Given the description of an element on the screen output the (x, y) to click on. 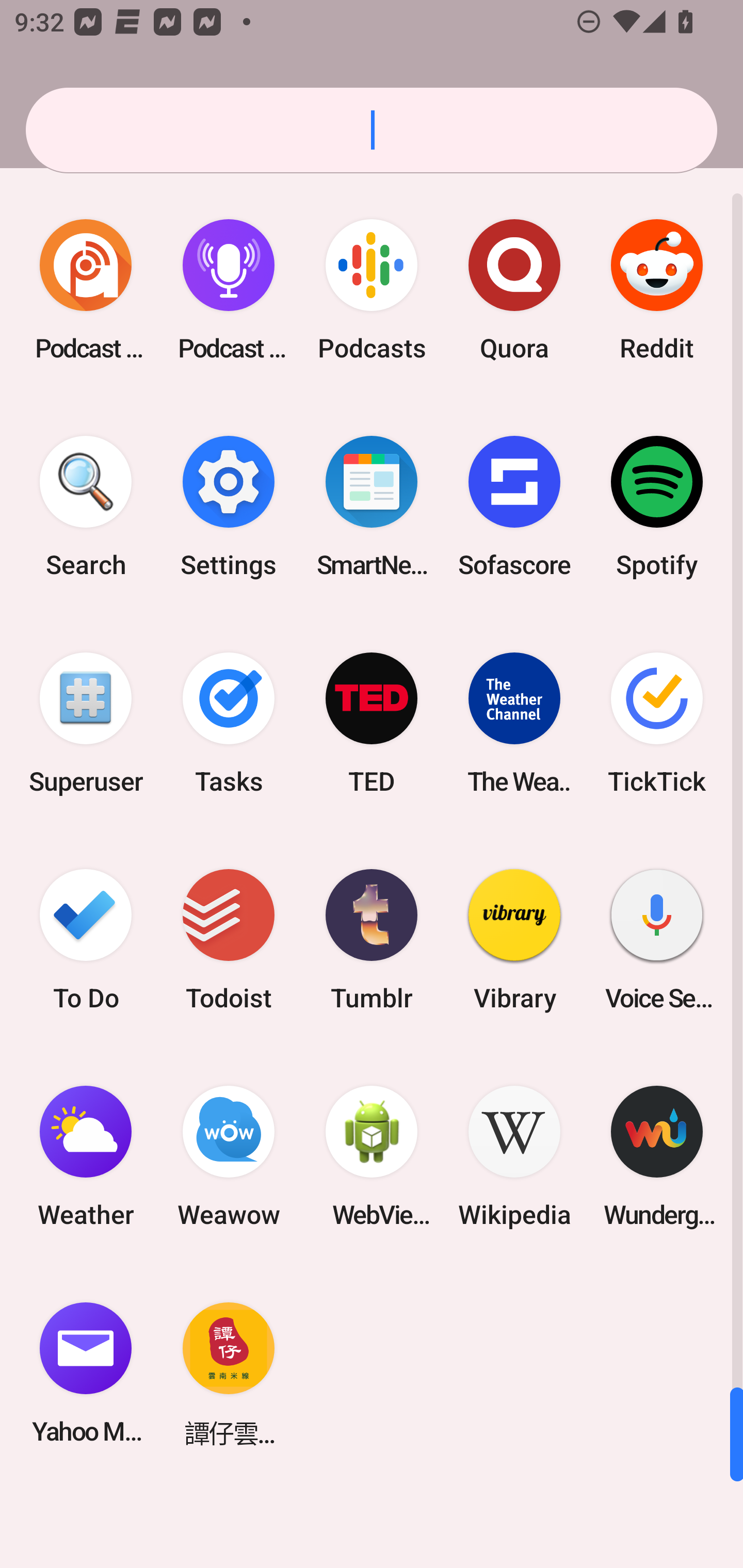
  Search apps (371, 130)
Podcast Addict (85, 289)
Podcast Player (228, 289)
Podcasts (371, 289)
Quora (514, 289)
Reddit (656, 289)
Search (85, 506)
Settings (228, 506)
SmartNews (371, 506)
Sofascore (514, 506)
Spotify (656, 506)
Superuser (85, 722)
Tasks (228, 722)
TED (371, 722)
The Weather Channel (514, 722)
TickTick (656, 722)
To Do (85, 939)
Todoist (228, 939)
Tumblr (371, 939)
Vibrary (514, 939)
Voice Search (656, 939)
Weather (85, 1156)
Weawow (228, 1156)
WebView Browser Tester (371, 1156)
Wikipedia (514, 1156)
Wunderground (656, 1156)
Yahoo Mail (85, 1373)
譚仔雲南米線 (228, 1373)
